Given the description of an element on the screen output the (x, y) to click on. 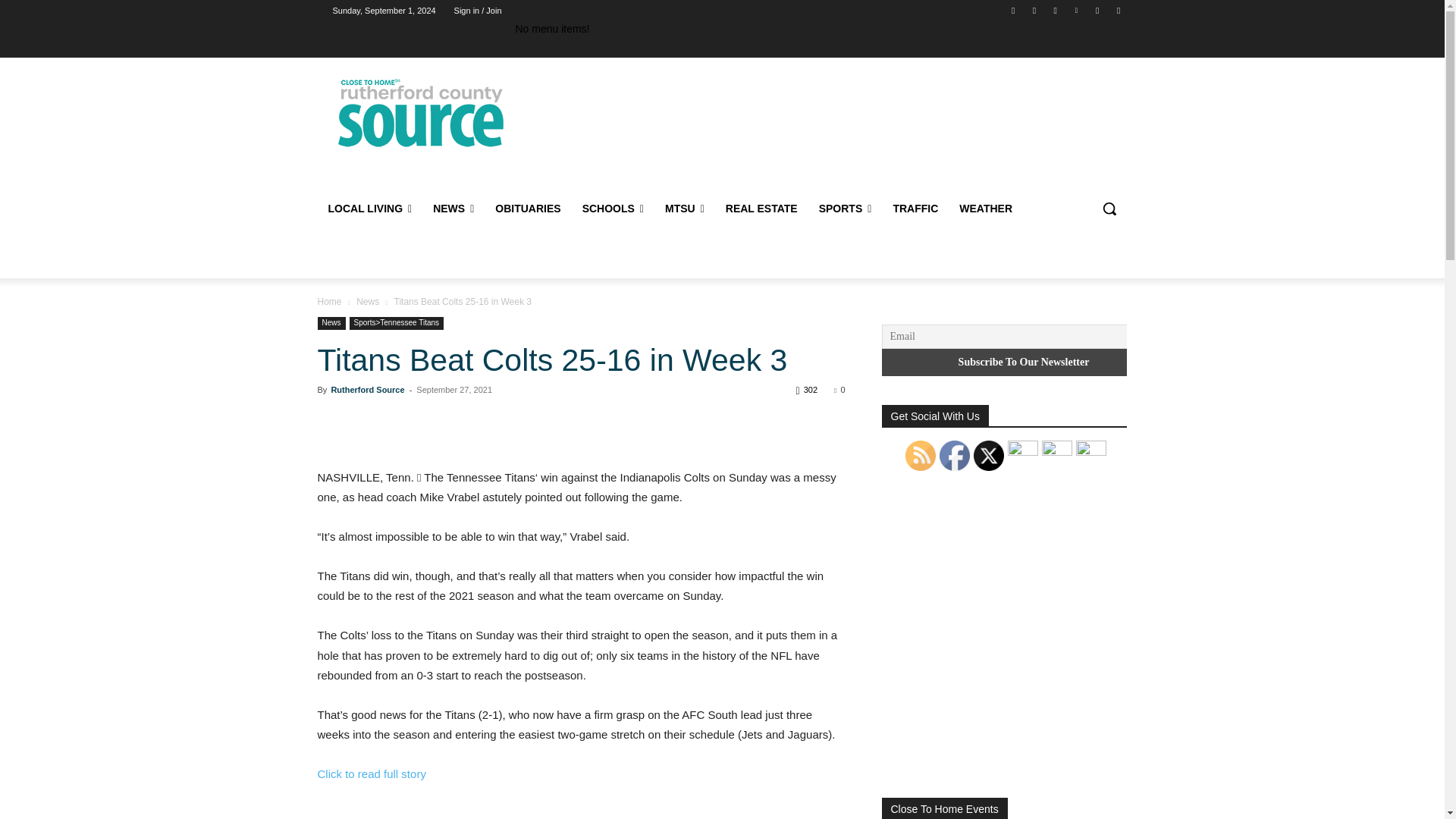
Facebook (1013, 9)
Twitter (1097, 9)
Flipboard (1034, 9)
Subscribe To Our Newsletter (1023, 361)
Youtube (1117, 9)
Linkedin (1075, 9)
Instagram (1055, 9)
